Given the description of an element on the screen output the (x, y) to click on. 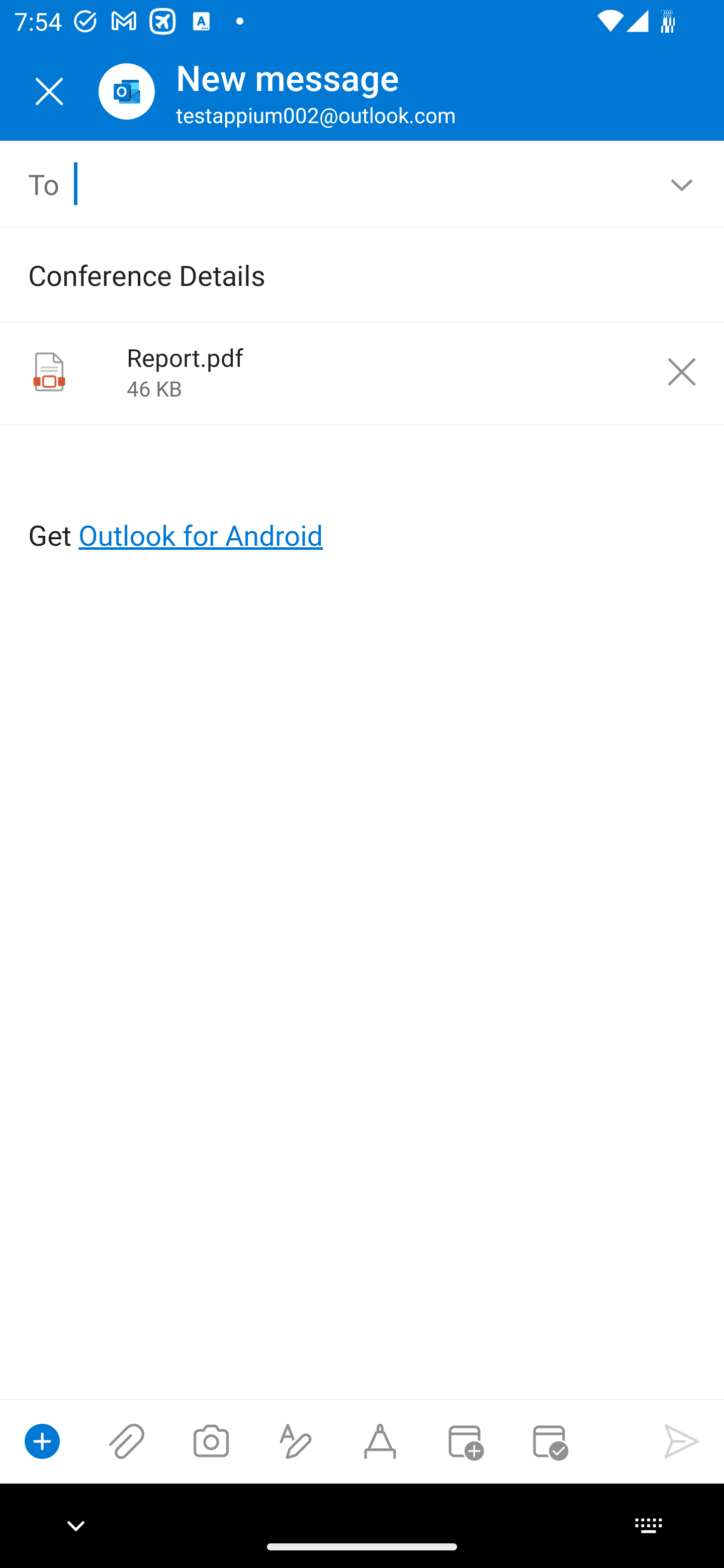
Close (49, 91)
Conference Details (333, 274)
Report.pdf 46 KB Remove attachment Report.pdf (362, 373)
Remove attachment Report.pdf (681, 372)


Get Outlook for Android (363, 502)
Show compose options (42, 1440)
Attach files (126, 1440)
Take a photo (210, 1440)
Show formatting options (295, 1440)
Start Ink compose (380, 1440)
Convert to event (464, 1440)
Send availability (548, 1440)
Send (681, 1440)
